Given the description of an element on the screen output the (x, y) to click on. 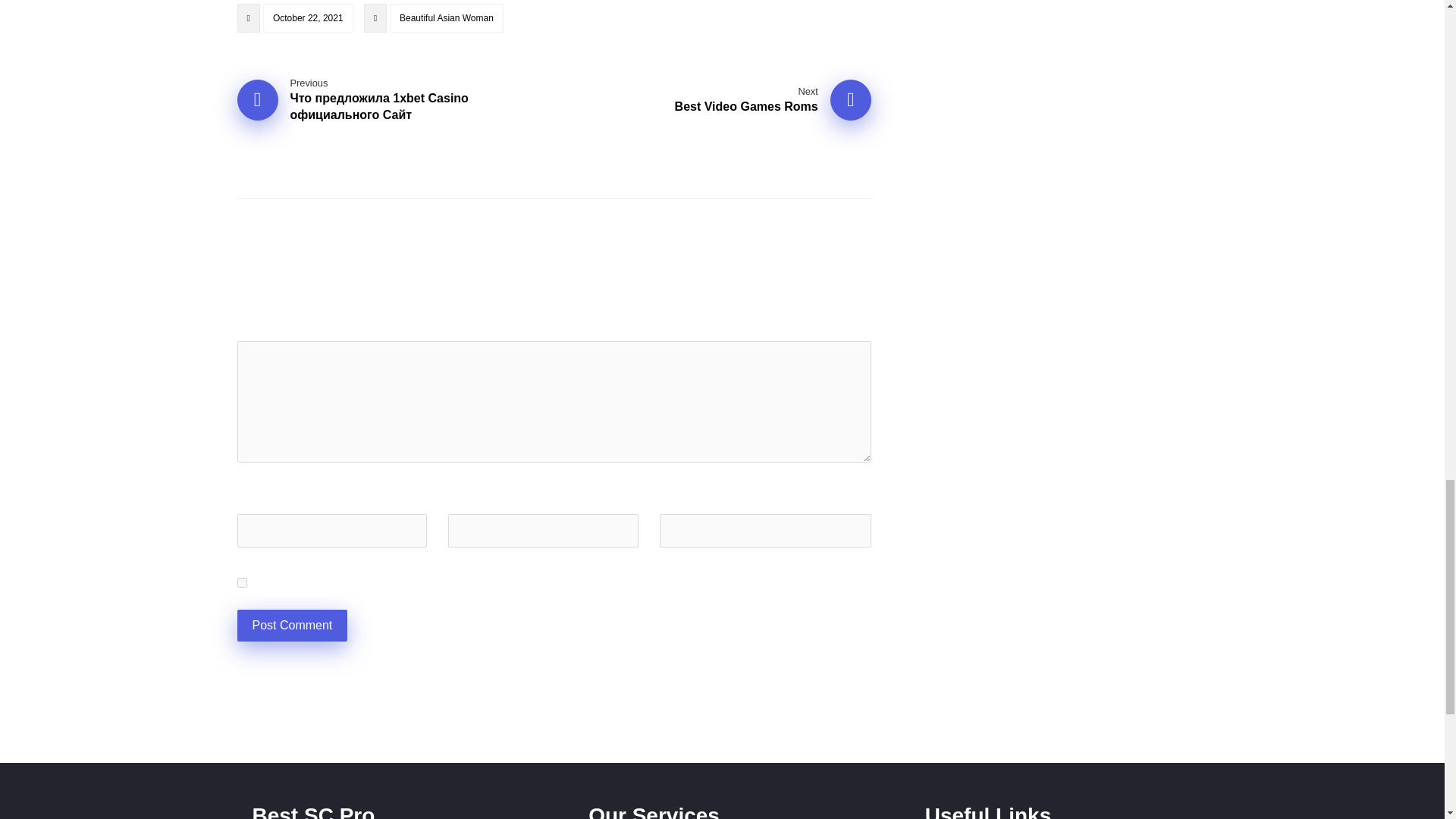
yes (240, 583)
October 22, 2021 (308, 18)
Published on (295, 22)
Post Comment (291, 625)
Beautiful Asian Woman (446, 18)
Post Comment (772, 99)
